Given the description of an element on the screen output the (x, y) to click on. 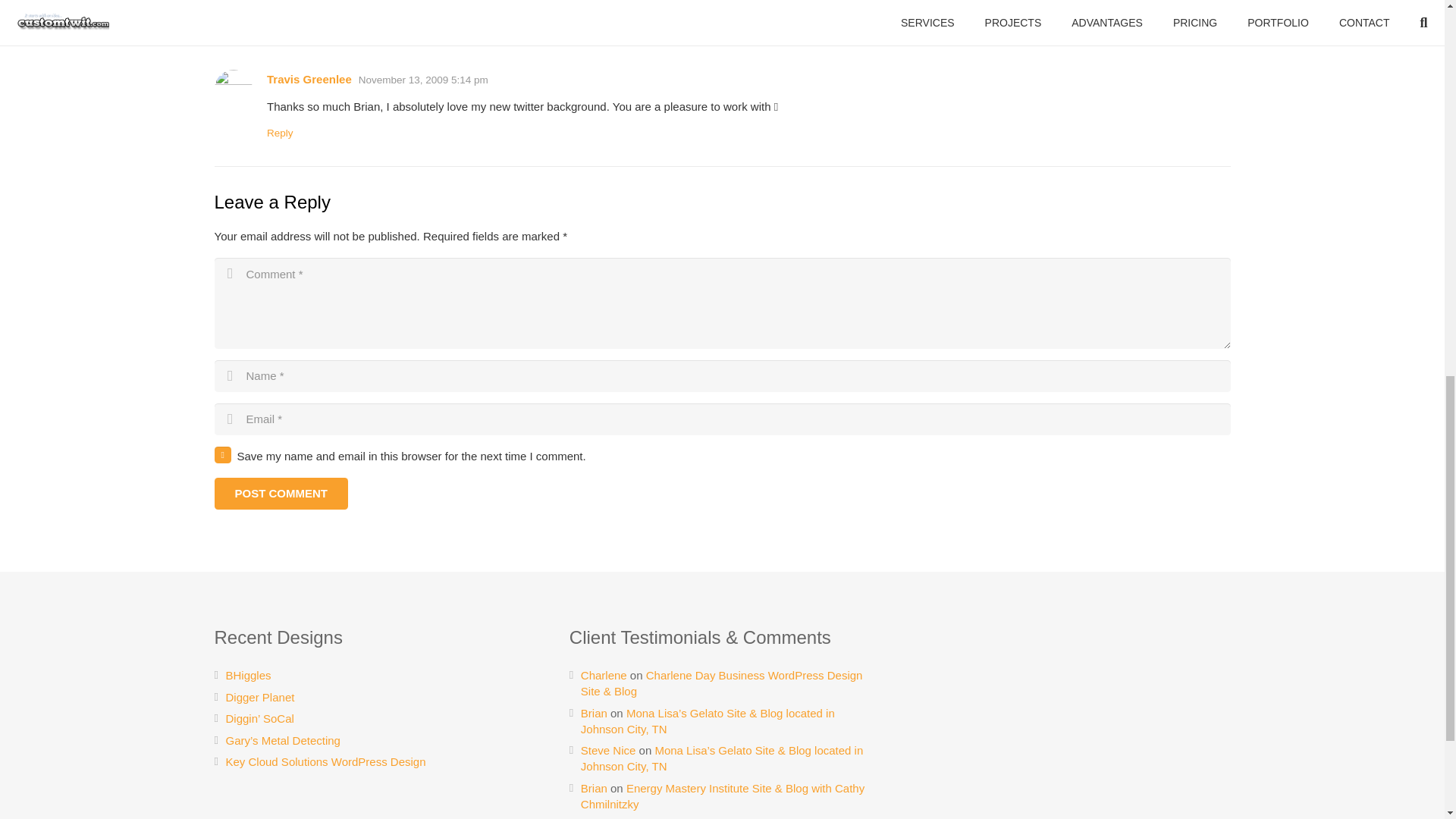
Leave new (377, 26)
Digger Planet (260, 697)
Back to top (1413, 26)
BHiggles (247, 675)
November 13, 2009 5:14 pm (422, 79)
Travis Greenlee (309, 78)
POST COMMENT (280, 493)
Key Cloud Solutions WordPress Design (325, 761)
Reply (280, 132)
